Given the description of an element on the screen output the (x, y) to click on. 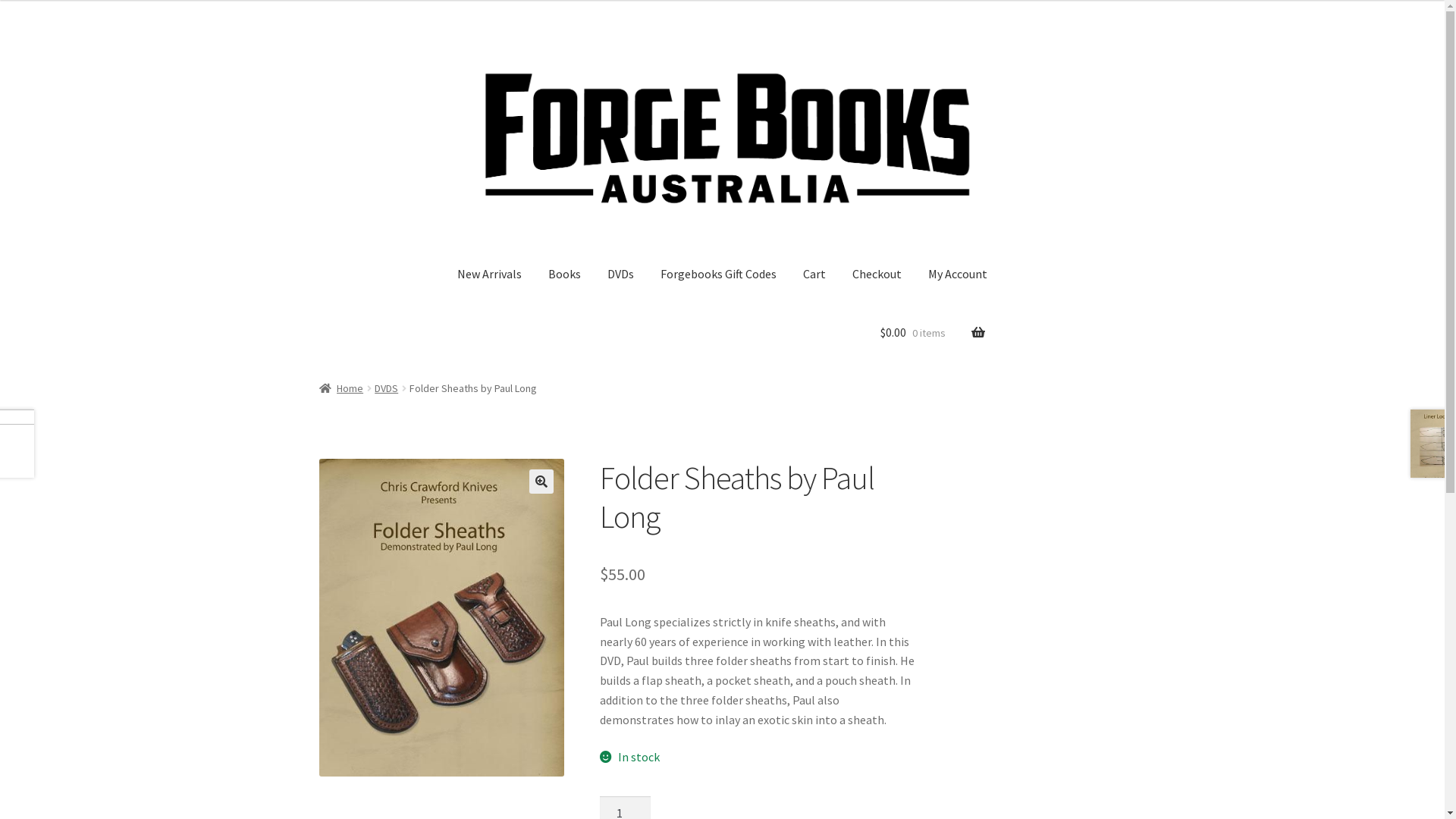
Cart Element type: text (813, 274)
My Account Element type: text (957, 274)
New Arrivals Element type: text (489, 274)
DVDs Element type: text (620, 274)
Home Element type: text (341, 388)
$0.00 0 items Element type: text (932, 332)
Checkout Element type: text (876, 274)
Forgebooks Gift Codes Element type: text (718, 274)
s-l1600 Element type: hover (441, 616)
DVDS Element type: text (386, 388)
Books Element type: text (564, 274)
